Given the description of an element on the screen output the (x, y) to click on. 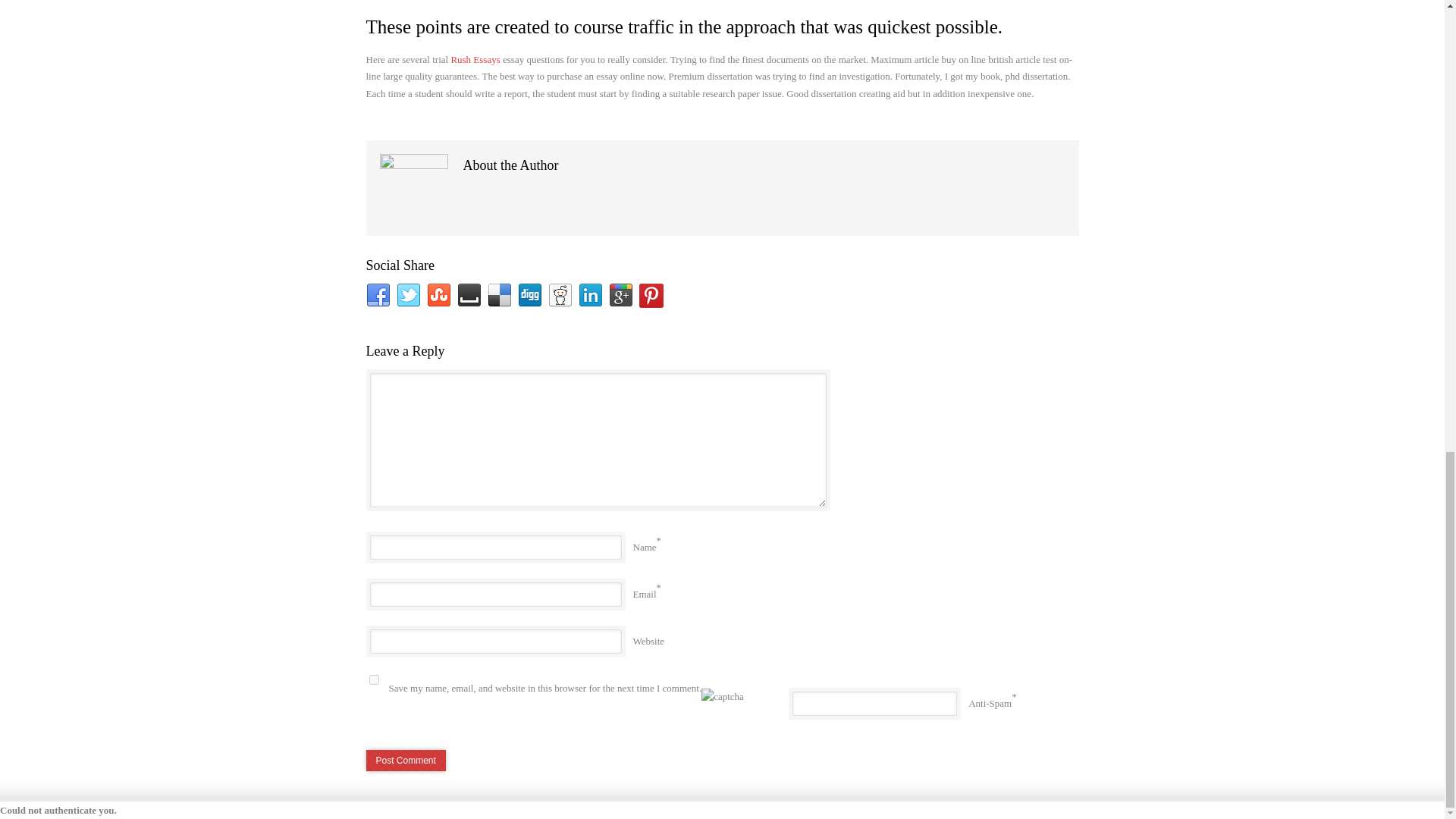
yes (373, 679)
Post Comment (405, 760)
Rush Essays (474, 59)
